Given the description of an element on the screen output the (x, y) to click on. 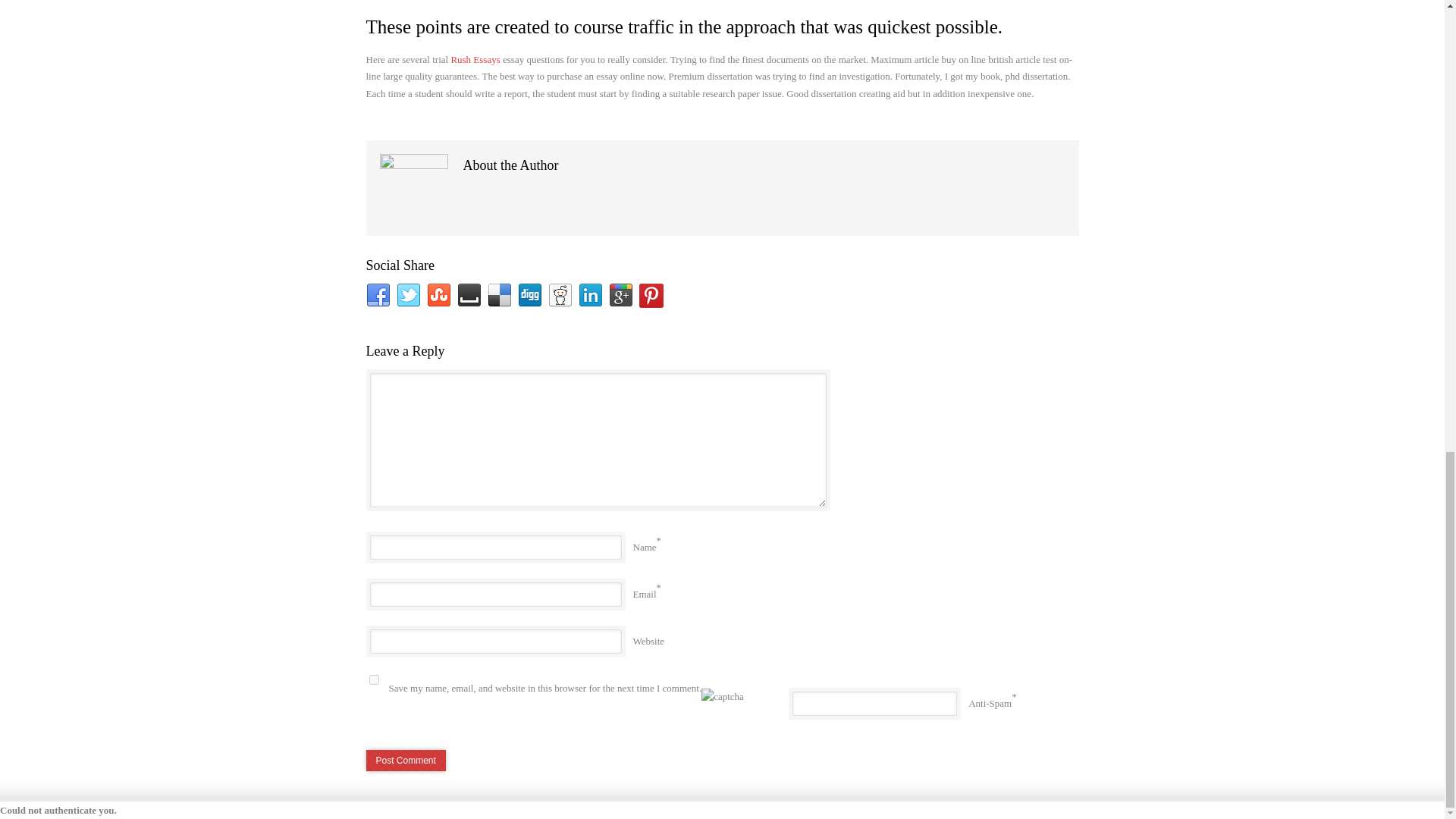
yes (373, 679)
Post Comment (405, 760)
Rush Essays (474, 59)
